Given the description of an element on the screen output the (x, y) to click on. 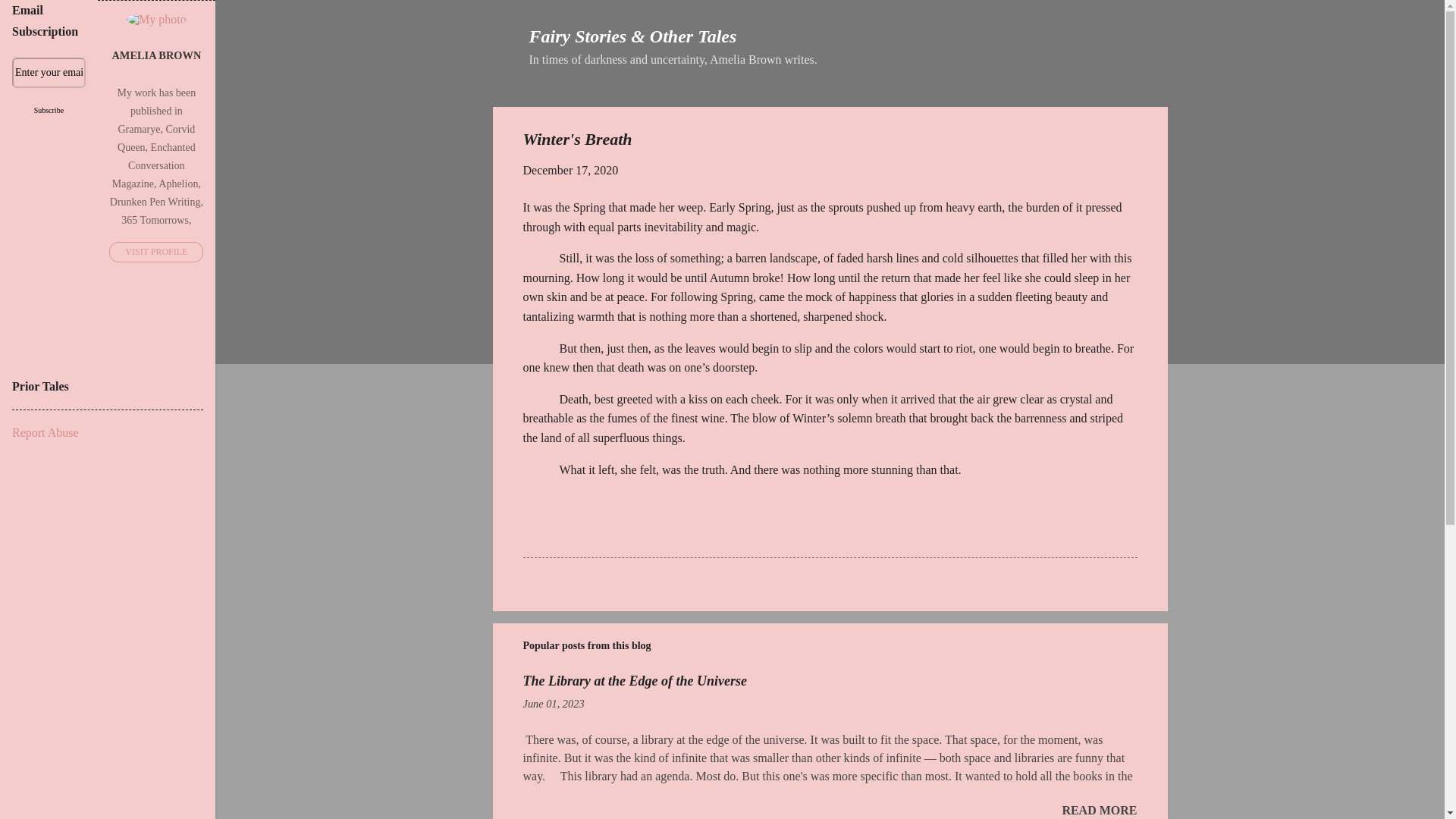
permanent link (553, 703)
permanent link (570, 169)
Search (31, 18)
AMELIA BROWN (156, 55)
READ MORE (1099, 809)
Subscribe (48, 110)
VISIT PROFILE (156, 251)
June 01, 2023 (553, 703)
December 17, 2020 (570, 169)
The Library at the Edge of the Universe (634, 680)
